Given the description of an element on the screen output the (x, y) to click on. 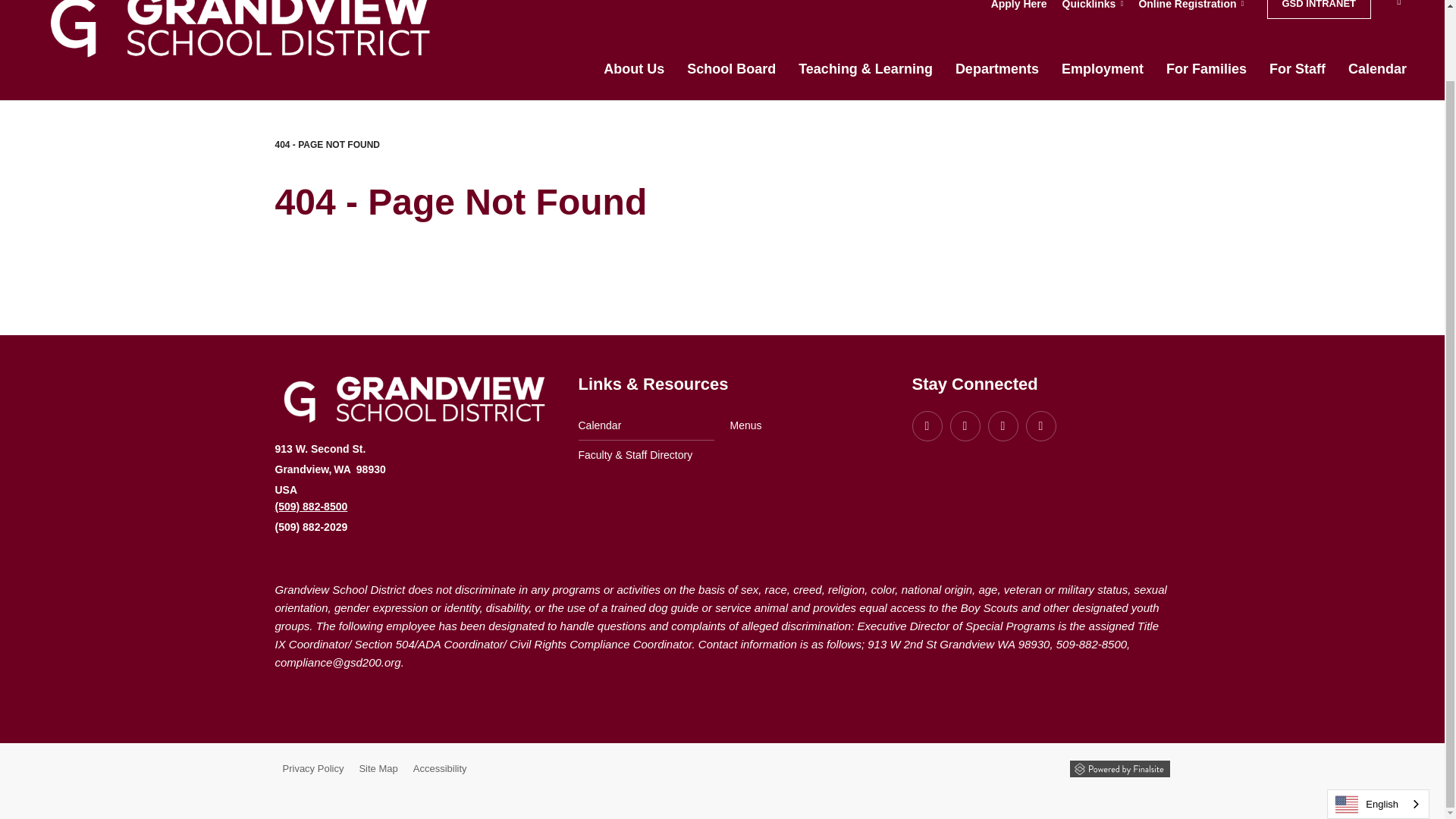
Powered by Finalsite opens in a new window (1118, 768)
